Given the description of an element on the screen output the (x, y) to click on. 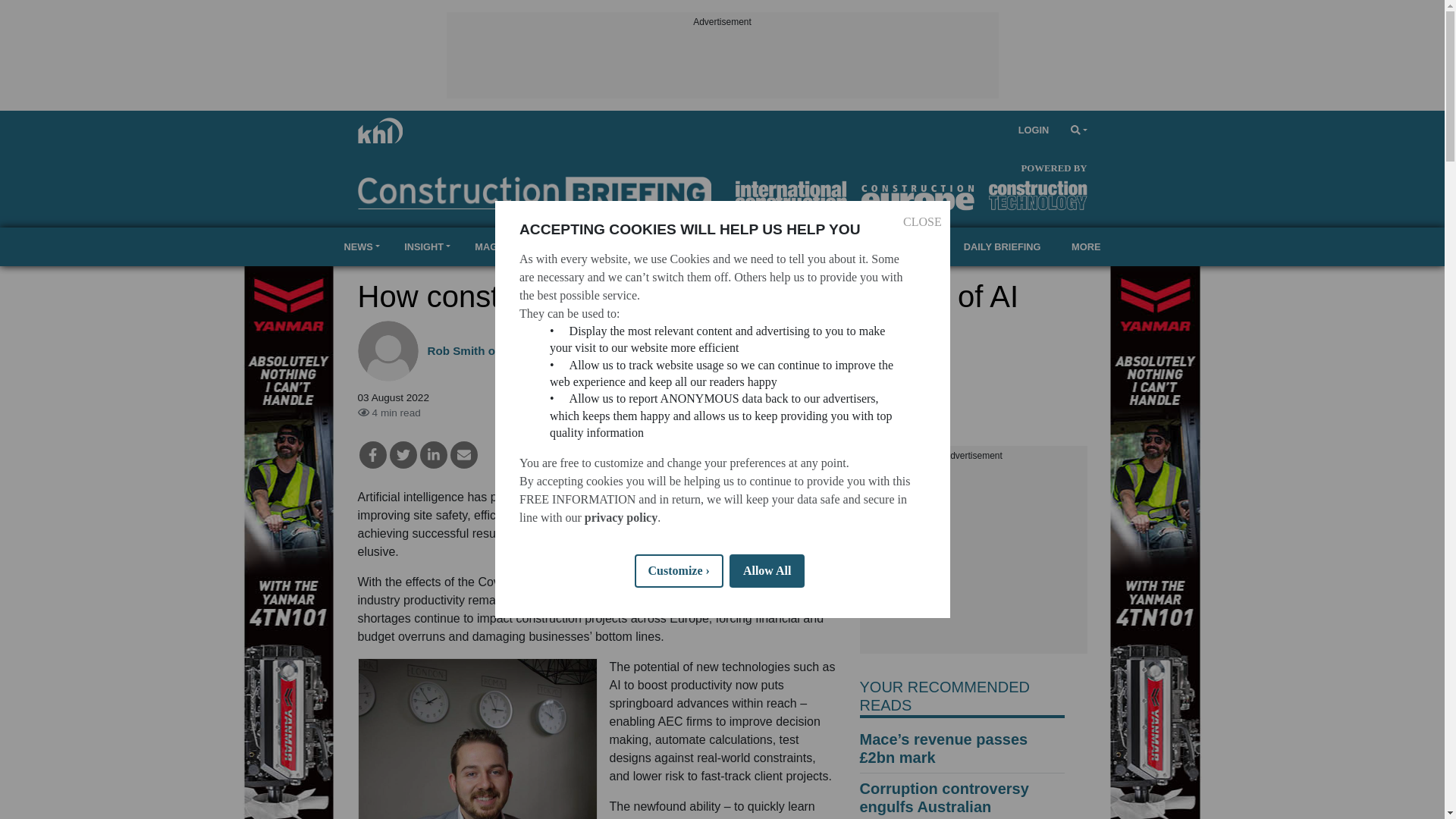
Share this page on Twitter (403, 454)
Share this page via email (463, 454)
Share this page on Facebook (373, 454)
Share this page on Linkedin (433, 454)
3rd party ad content (973, 558)
3rd party ad content (721, 64)
